Given the description of an element on the screen output the (x, y) to click on. 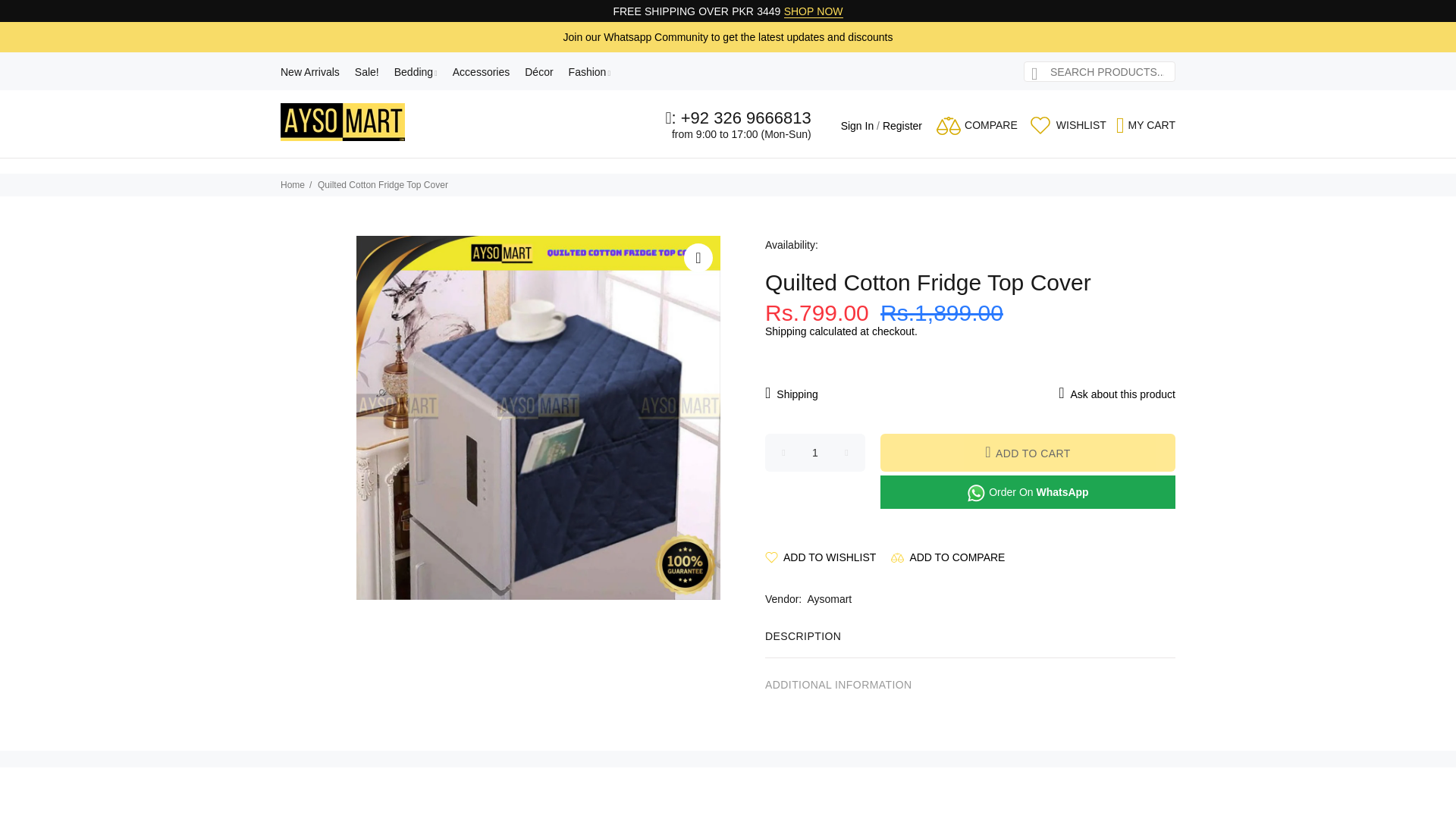
1 (814, 452)
SHOP NOW (813, 11)
New Arrivals (314, 71)
Bedding (416, 71)
Sale! (367, 71)
